Given the description of an element on the screen output the (x, y) to click on. 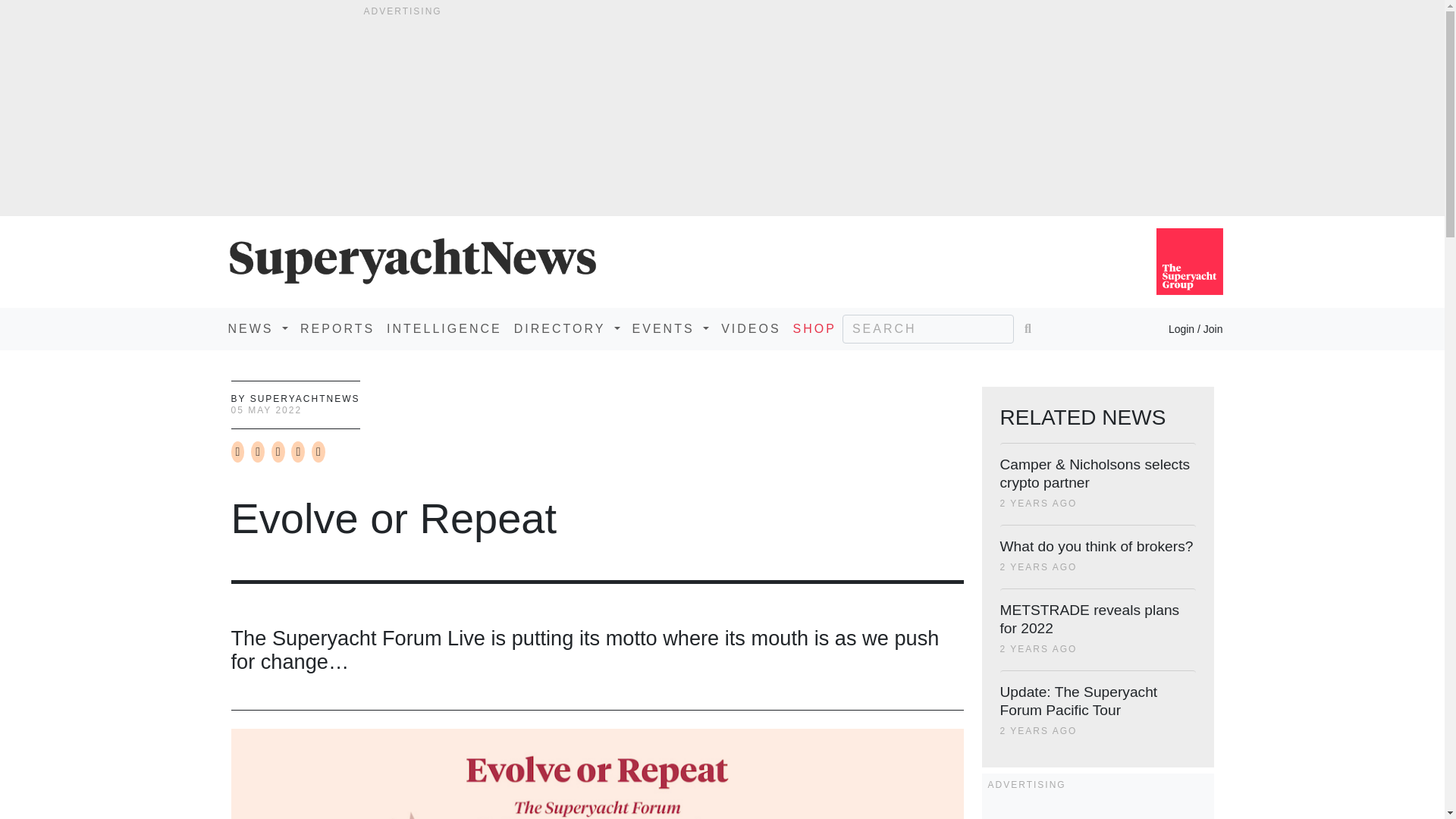
EVENTS (671, 328)
SHOP (815, 328)
3rd party ad content (1097, 809)
DIRECTORY (567, 328)
VIDEOS (750, 328)
NEWS (257, 328)
INTELLIGENCE (444, 328)
REPORTS (337, 328)
